Given the description of an element on the screen output the (x, y) to click on. 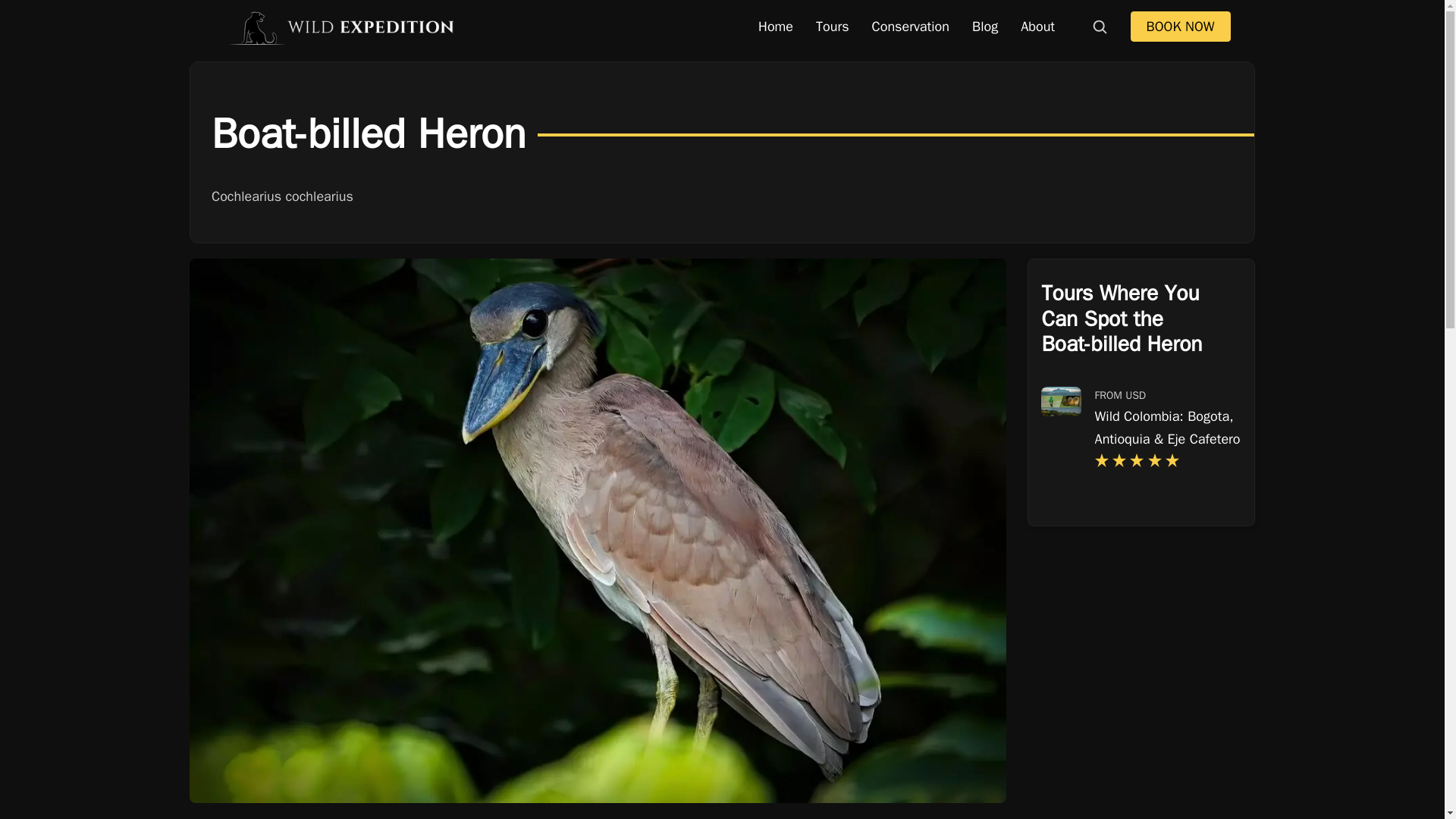
Home (775, 26)
About (1037, 26)
Blog (984, 26)
Conservation (910, 26)
Tours (832, 26)
